Given the description of an element on the screen output the (x, y) to click on. 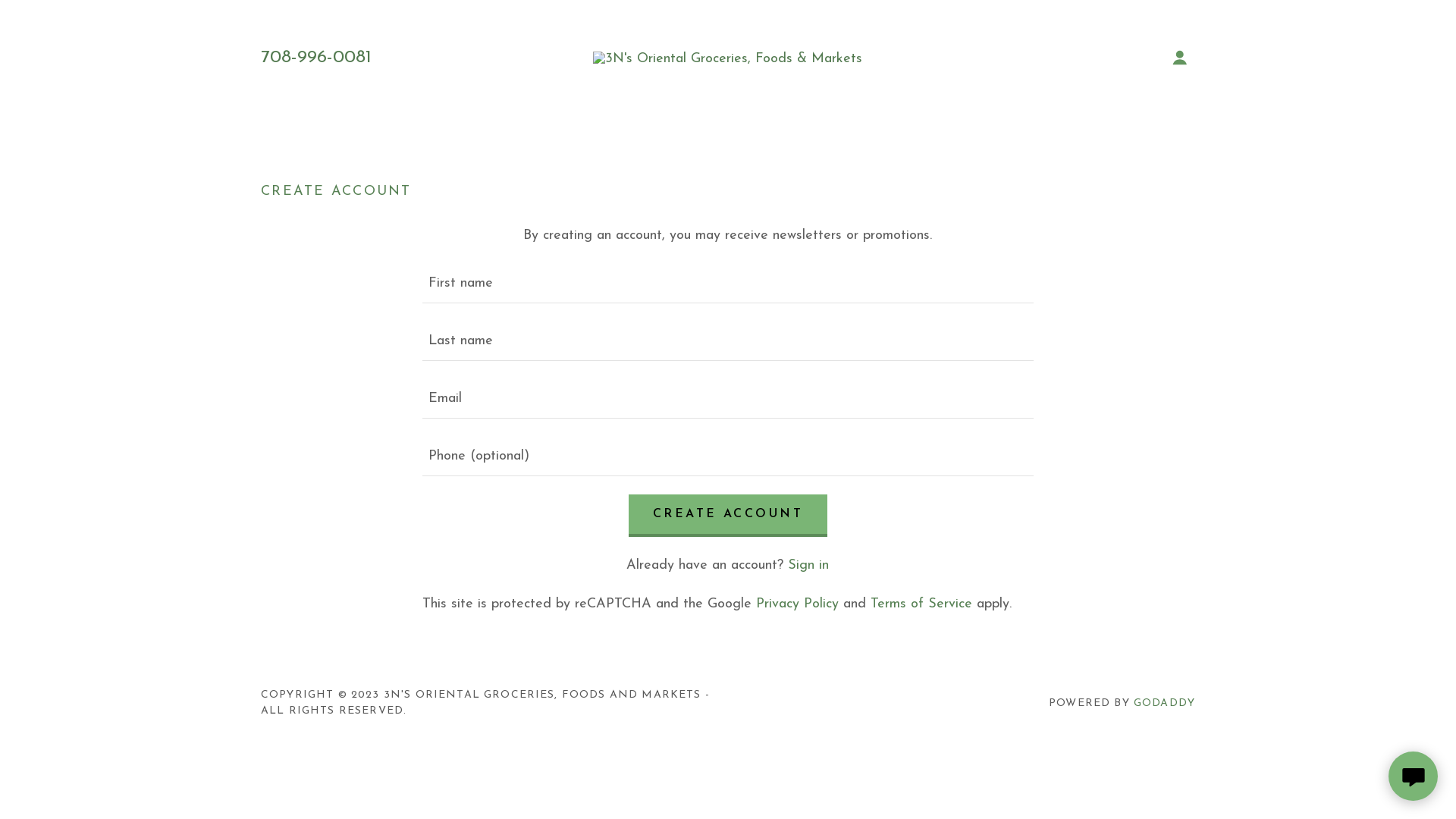
CREATE ACCOUNT Element type: text (727, 515)
Sign in Element type: text (807, 565)
3N's Oriental Groceries, Foods & Markets Element type: hover (727, 57)
GODADDY Element type: text (1164, 703)
Privacy Policy Element type: text (797, 603)
Terms of Service Element type: text (921, 603)
708-996-0081 Element type: text (315, 57)
